Given the description of an element on the screen output the (x, y) to click on. 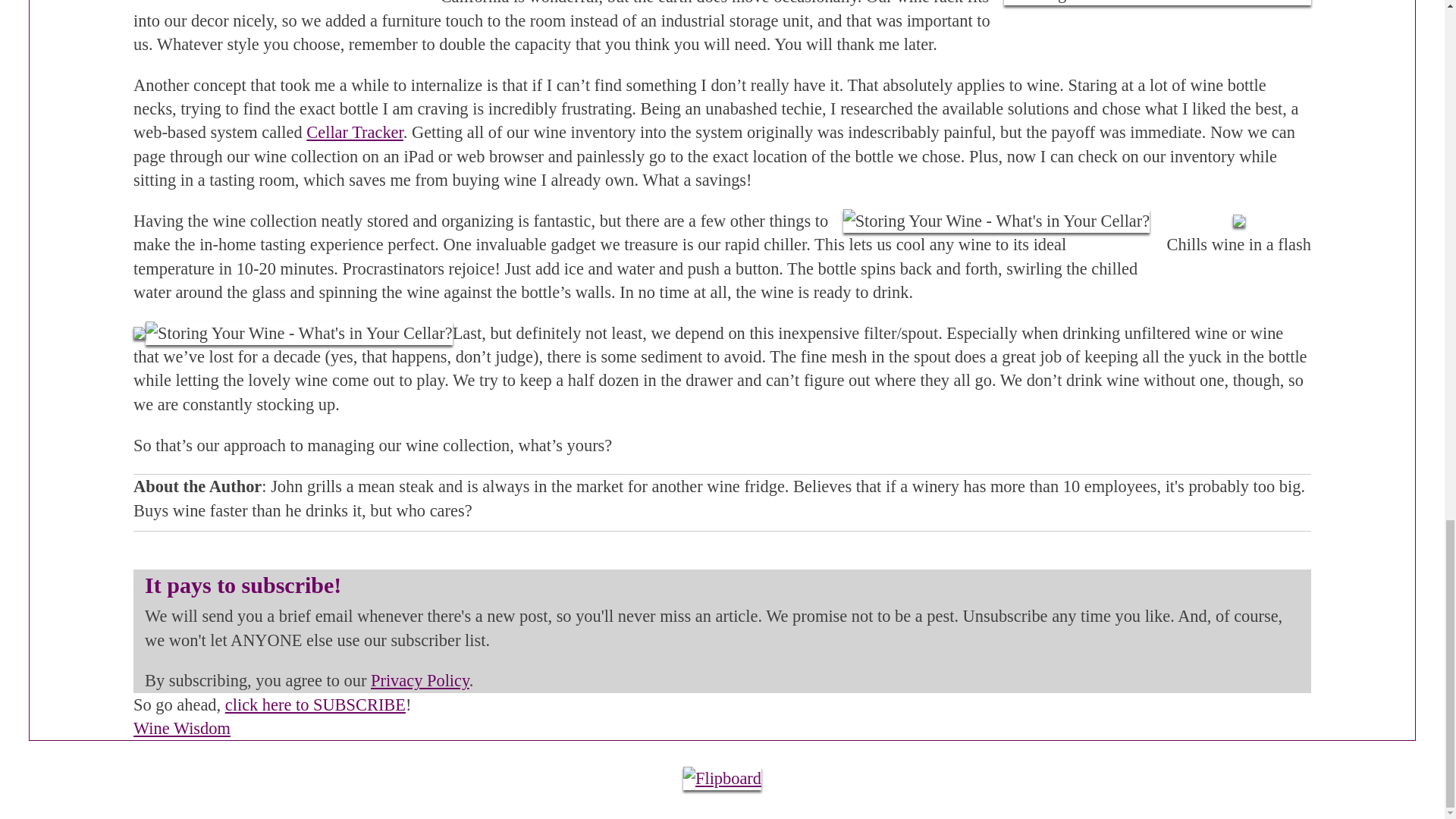
Wine Wisdom (181, 728)
Cellar Tracker (354, 131)
Privacy Policy (419, 680)
click here to SUBSCRIBE (315, 704)
